Given the description of an element on the screen output the (x, y) to click on. 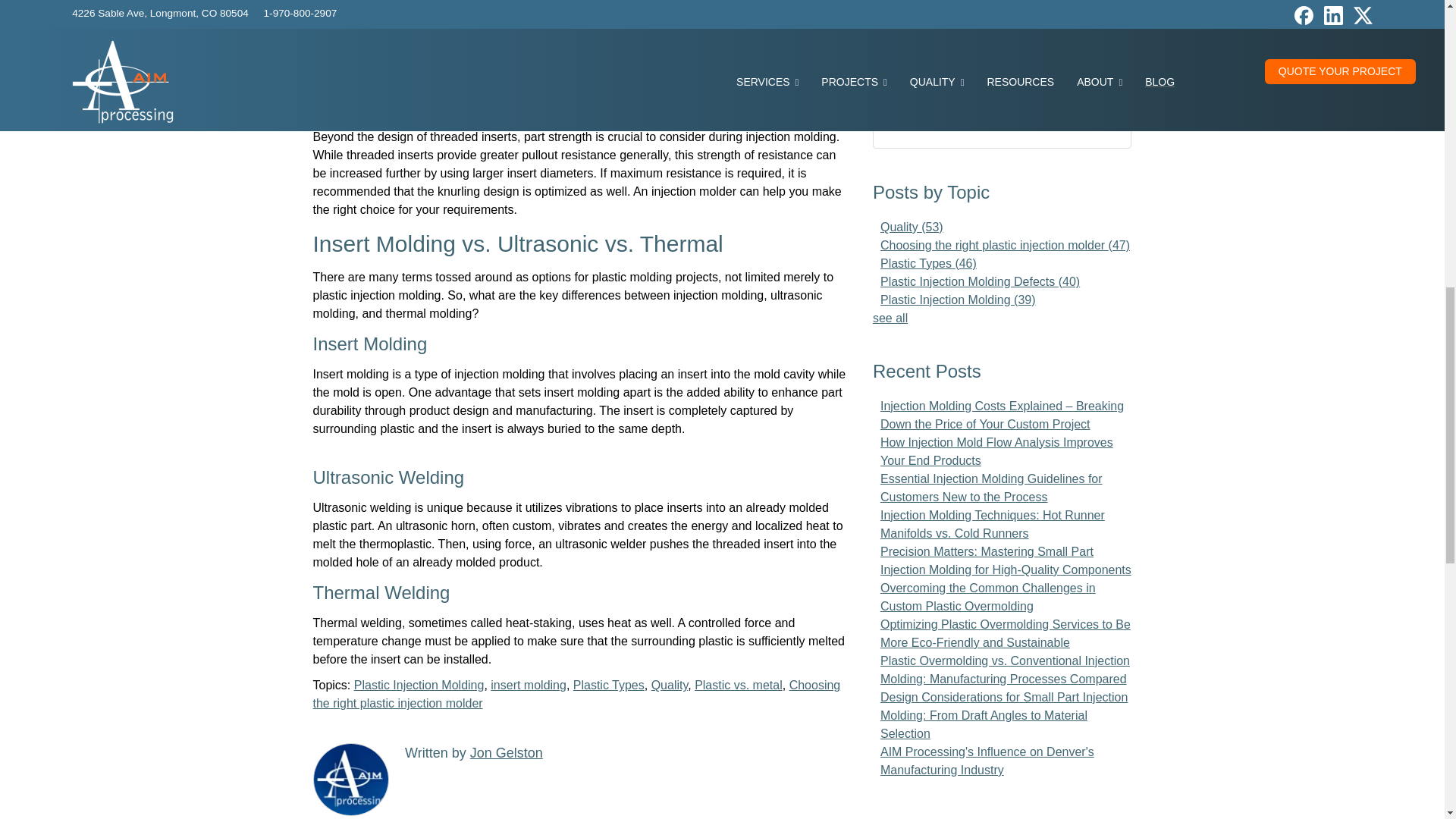
Choosing the right plastic injection molder (576, 694)
Plastic Injection Molding (418, 684)
Plastic Types (609, 684)
Quality (669, 684)
Plastic vs. metal (738, 684)
insert molding (528, 684)
Jon Gelston (506, 752)
